Given the description of an element on the screen output the (x, y) to click on. 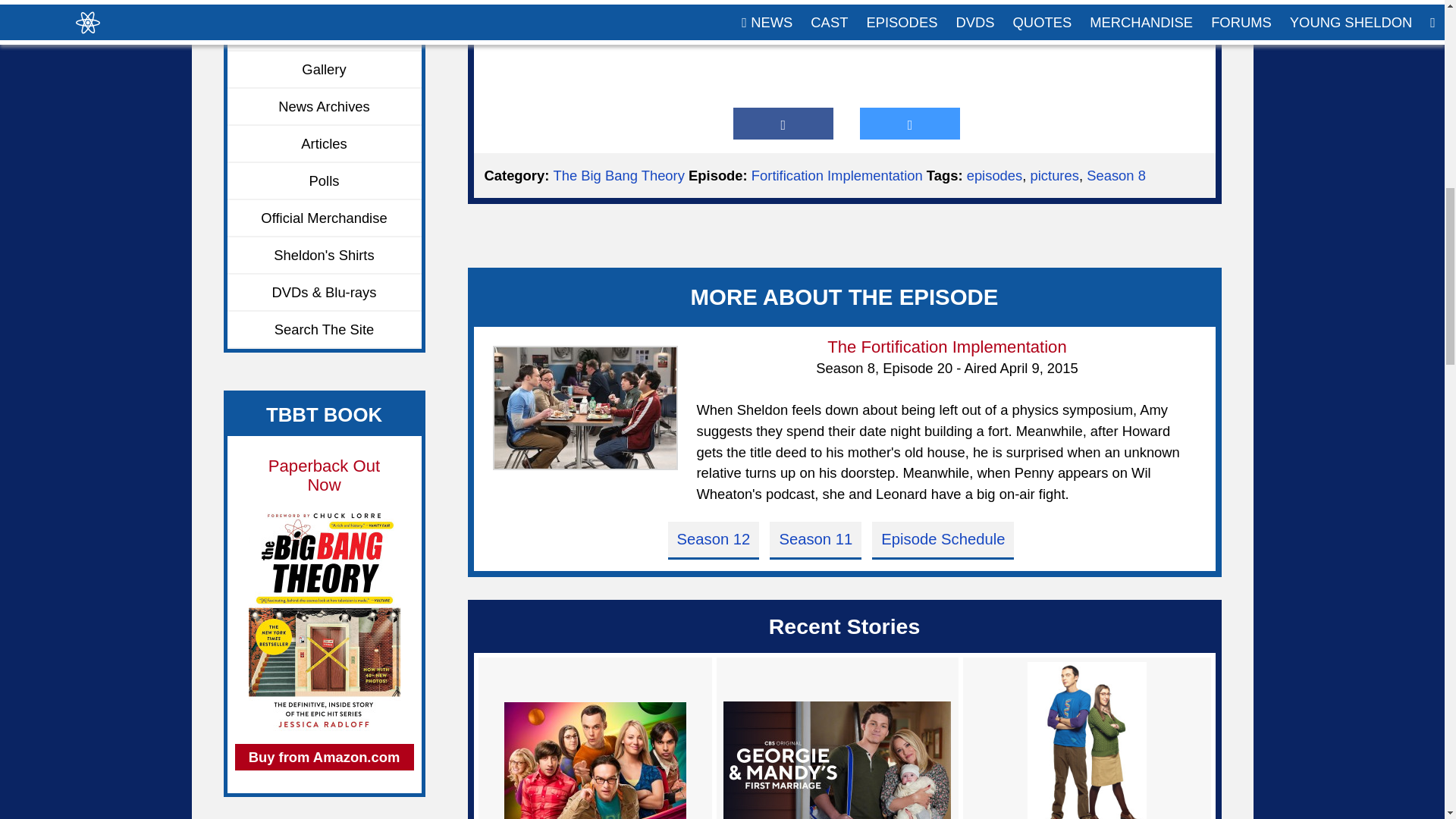
Buy from Amazon.com (323, 756)
Crew (324, 7)
Official Merchandise (324, 218)
Polls (324, 180)
Young Sheldon (324, 32)
TBBT BOOK (323, 414)
News Archives (324, 107)
Gallery (324, 69)
Sheldon's Shirts (324, 255)
Search The Site (324, 330)
Articles (324, 144)
